Given the description of an element on the screen output the (x, y) to click on. 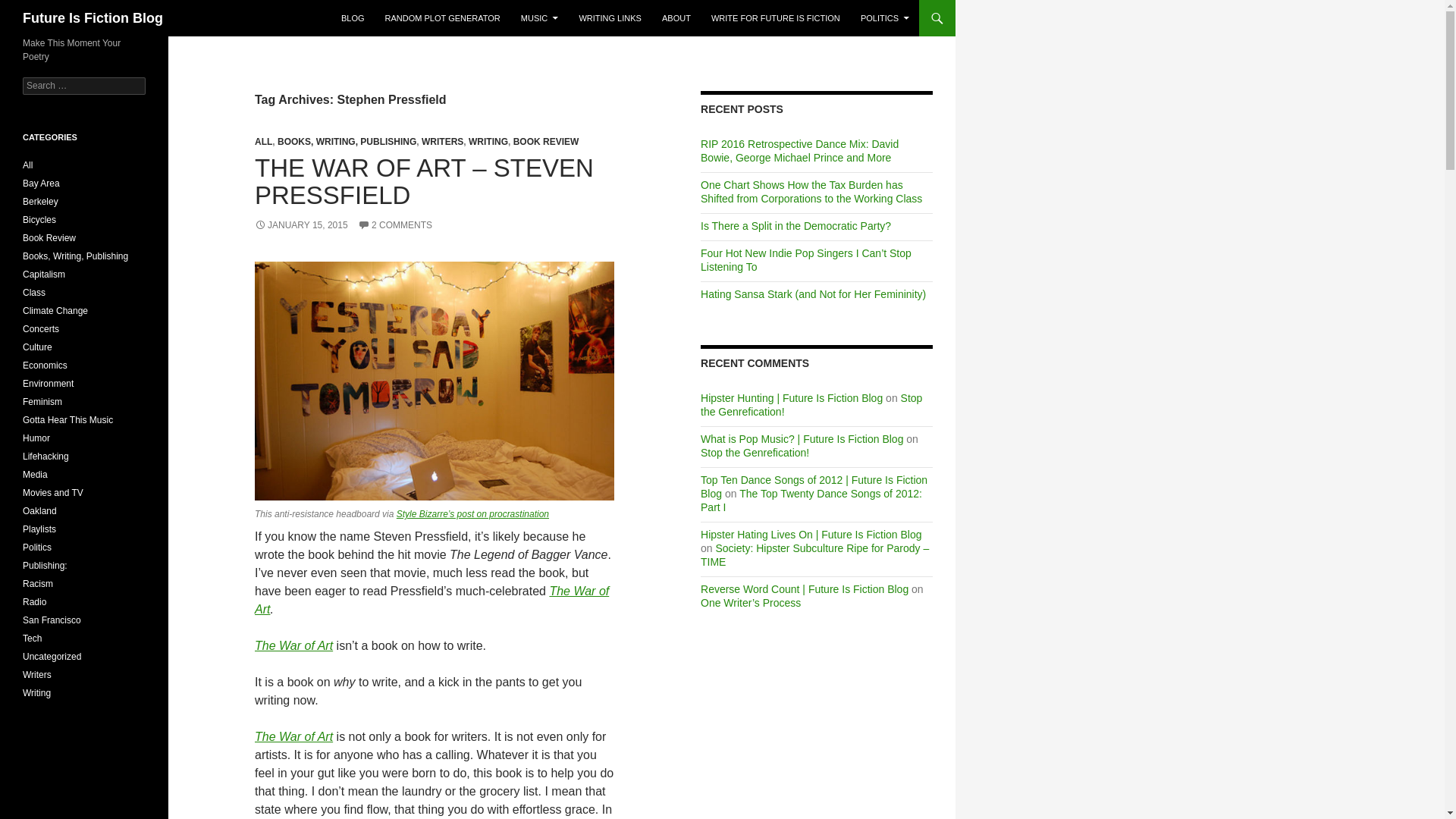
BOOKS, WRITING, PUBLISHING (347, 141)
JANUARY 15, 2015 (300, 225)
POLITICS (884, 18)
The War of Art (431, 599)
The War of Art (293, 736)
BLOG (352, 18)
Style Bizarre on procrastination (472, 513)
2 COMMENTS (395, 225)
ALL (263, 141)
MUSIC (539, 18)
RANDOM PLOT GENERATOR (442, 18)
Future Is Fiction Blog (93, 18)
BOOK REVIEW (546, 141)
WRITERS (442, 141)
WRITE FOR FUTURE IS FICTION (774, 18)
